Given the description of an element on the screen output the (x, y) to click on. 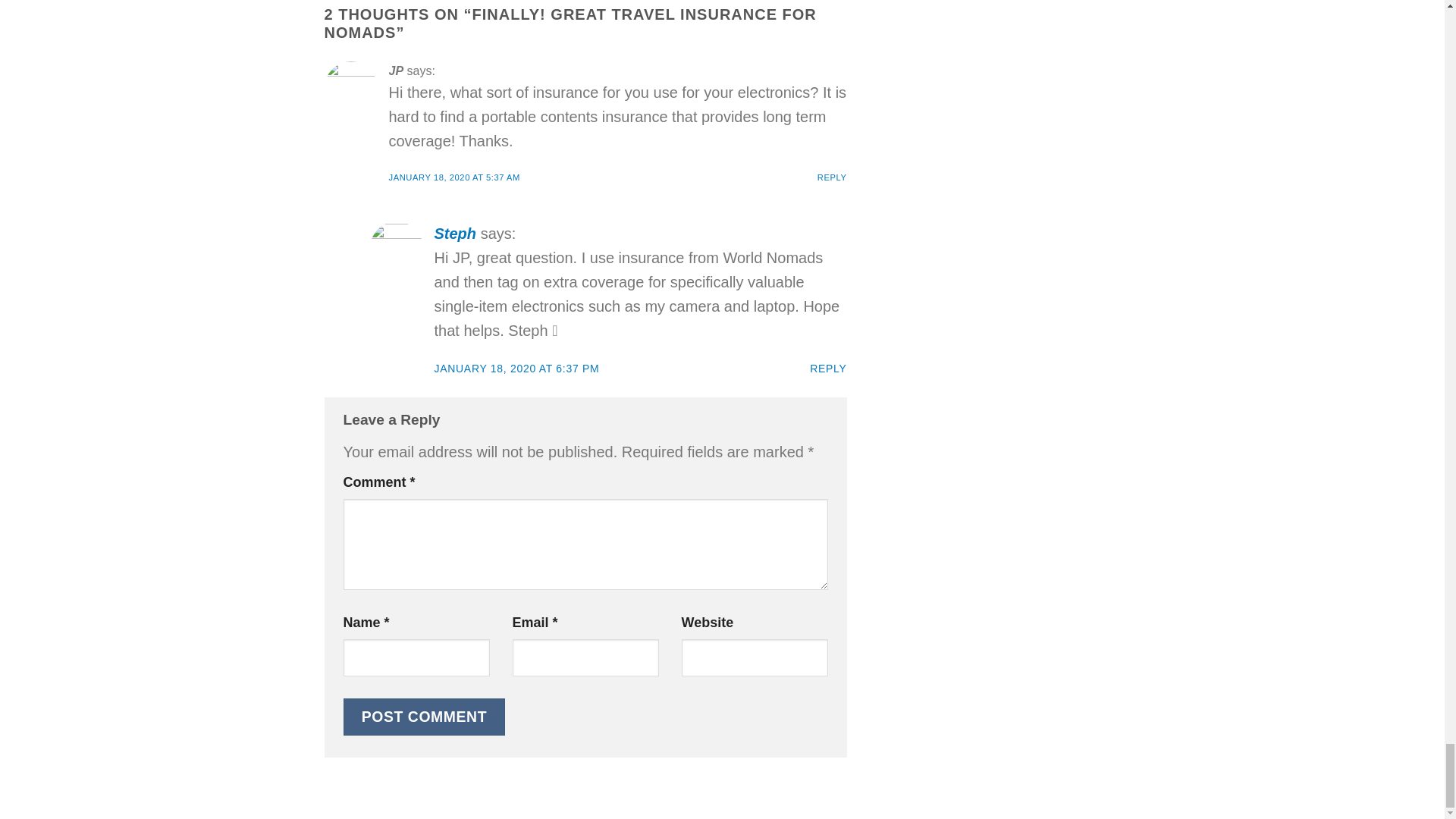
Post Comment (423, 716)
